Given the description of an element on the screen output the (x, y) to click on. 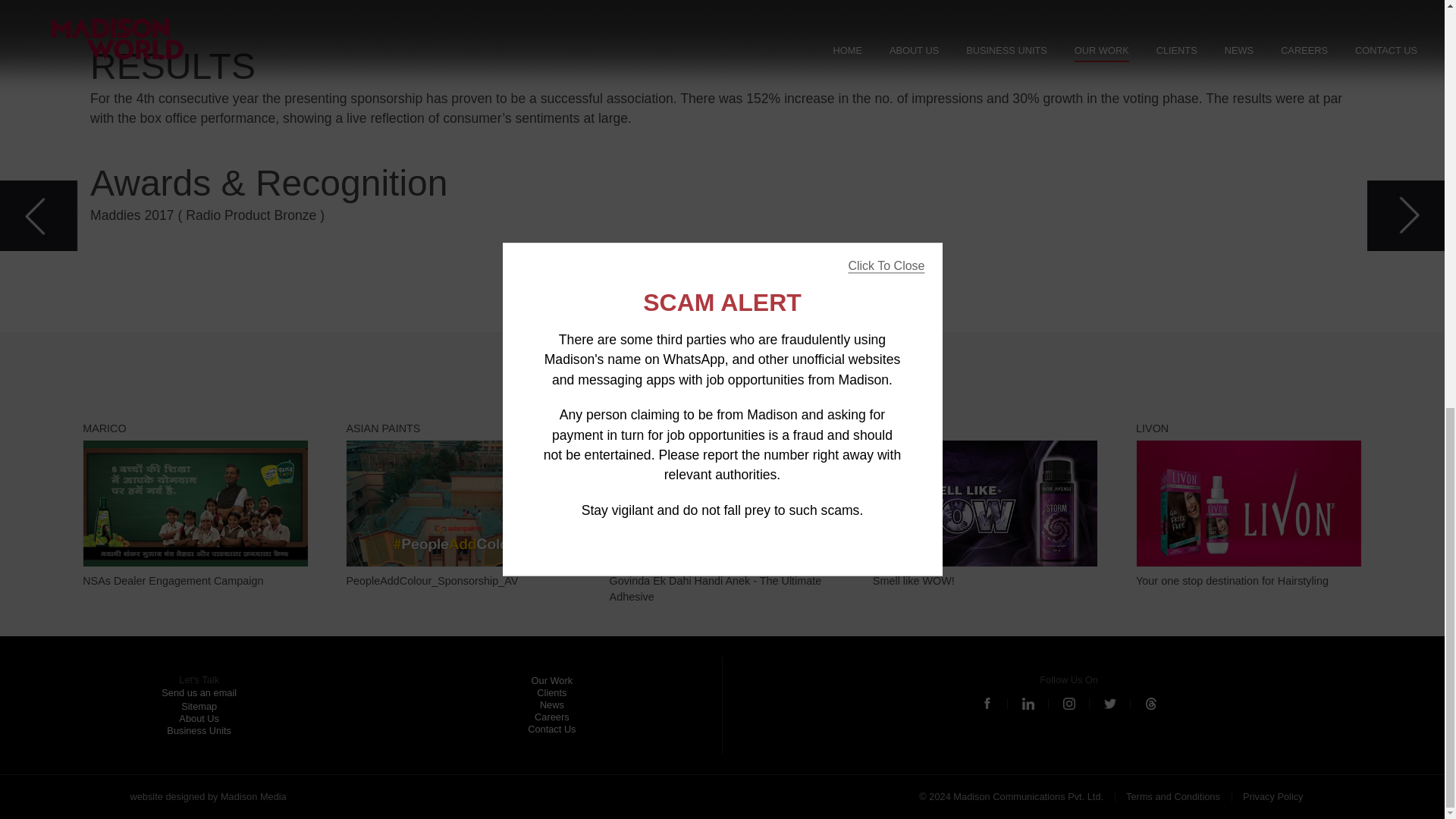
read more (195, 505)
Sitemap (1248, 505)
download (198, 706)
read more (459, 505)
read more (985, 505)
BACK (722, 514)
About Us (722, 514)
Send us an email (985, 505)
read more (722, 265)
